Given the description of an element on the screen output the (x, y) to click on. 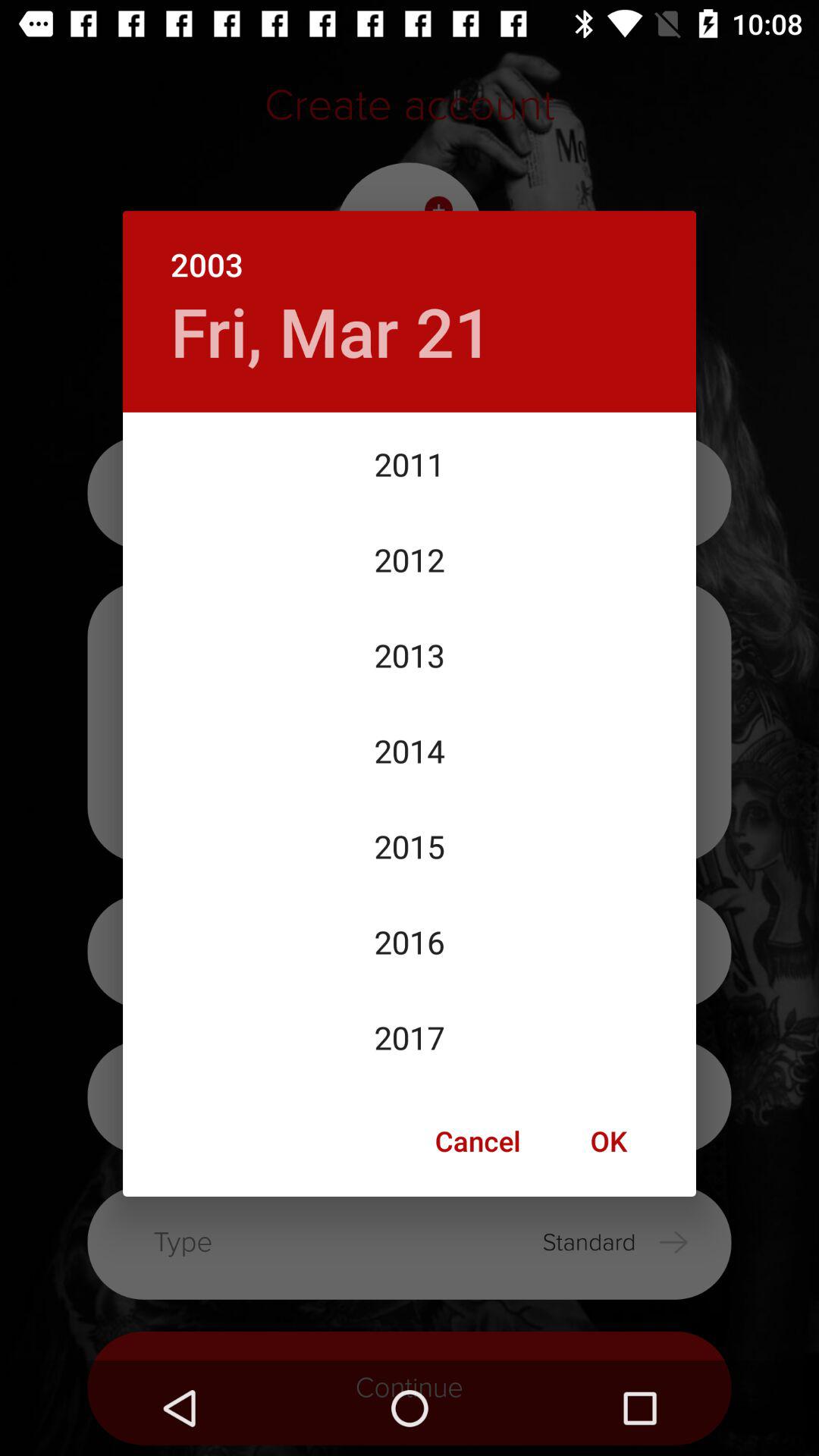
launch ok (608, 1140)
